Given the description of an element on the screen output the (x, y) to click on. 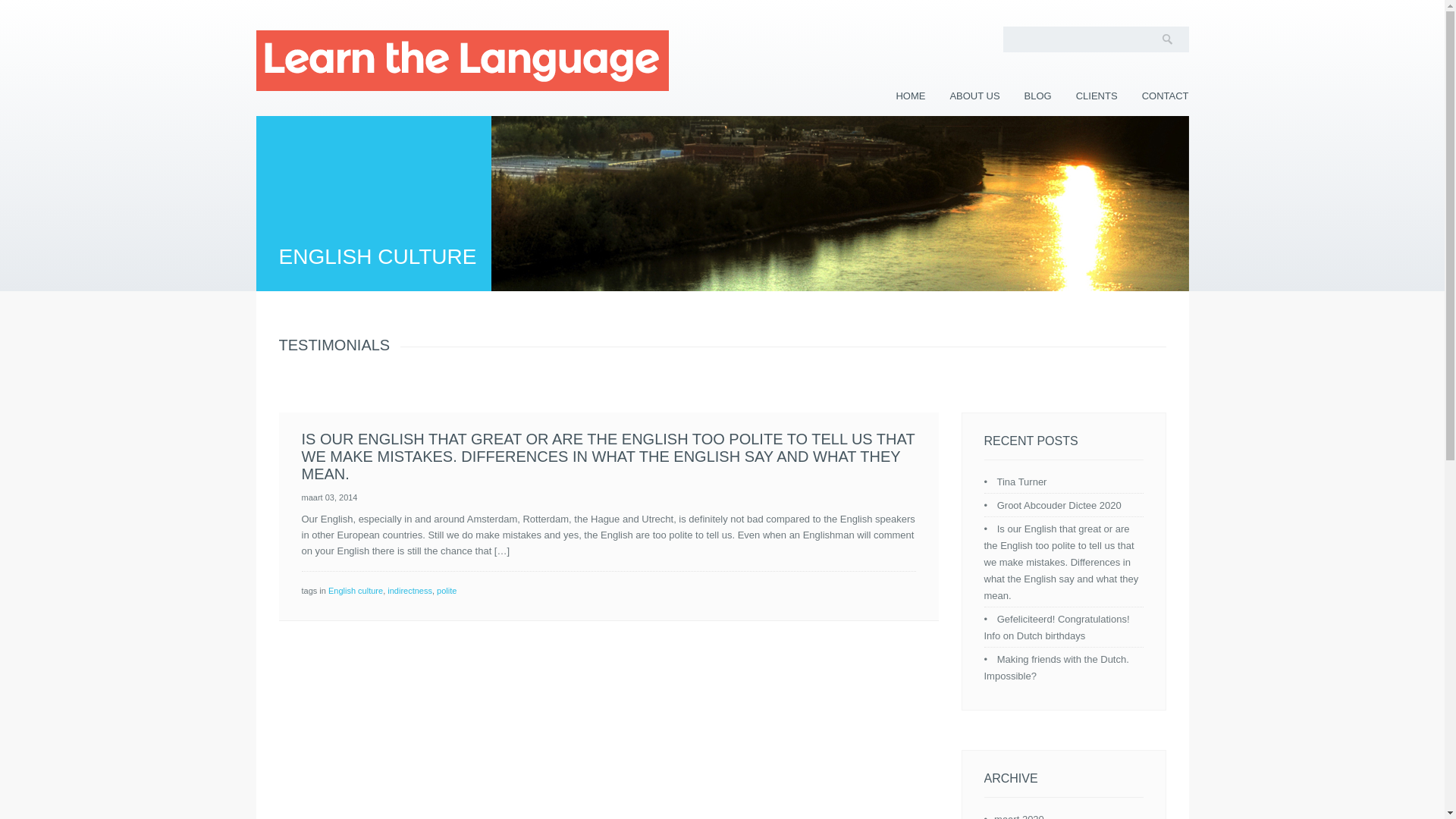
polite (446, 590)
English culture (355, 590)
BLOG (1038, 95)
learn the language (462, 60)
indirectness (409, 590)
CONTACT (1165, 95)
HOME (909, 95)
Making friends with the Dutch. Impossible? (1056, 667)
CLIENTS (1096, 95)
Groot Abcouder Dictee 2020 (1059, 505)
Gefeliciteerd! Congratulations! Info on Dutch birthdays (1056, 627)
ABOUT US (973, 95)
